Given the description of an element on the screen output the (x, y) to click on. 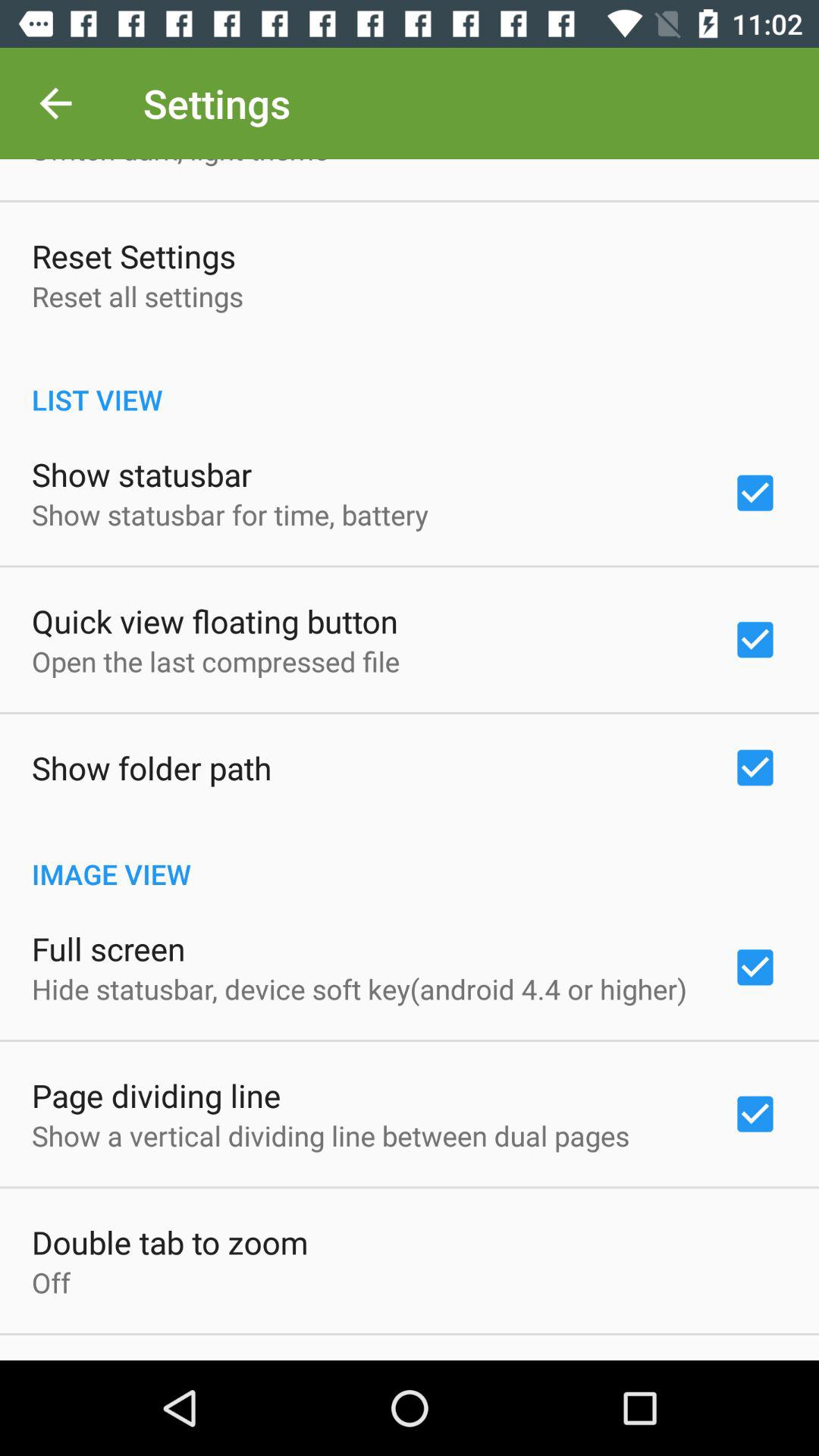
open off item (50, 1282)
